Given the description of an element on the screen output the (x, y) to click on. 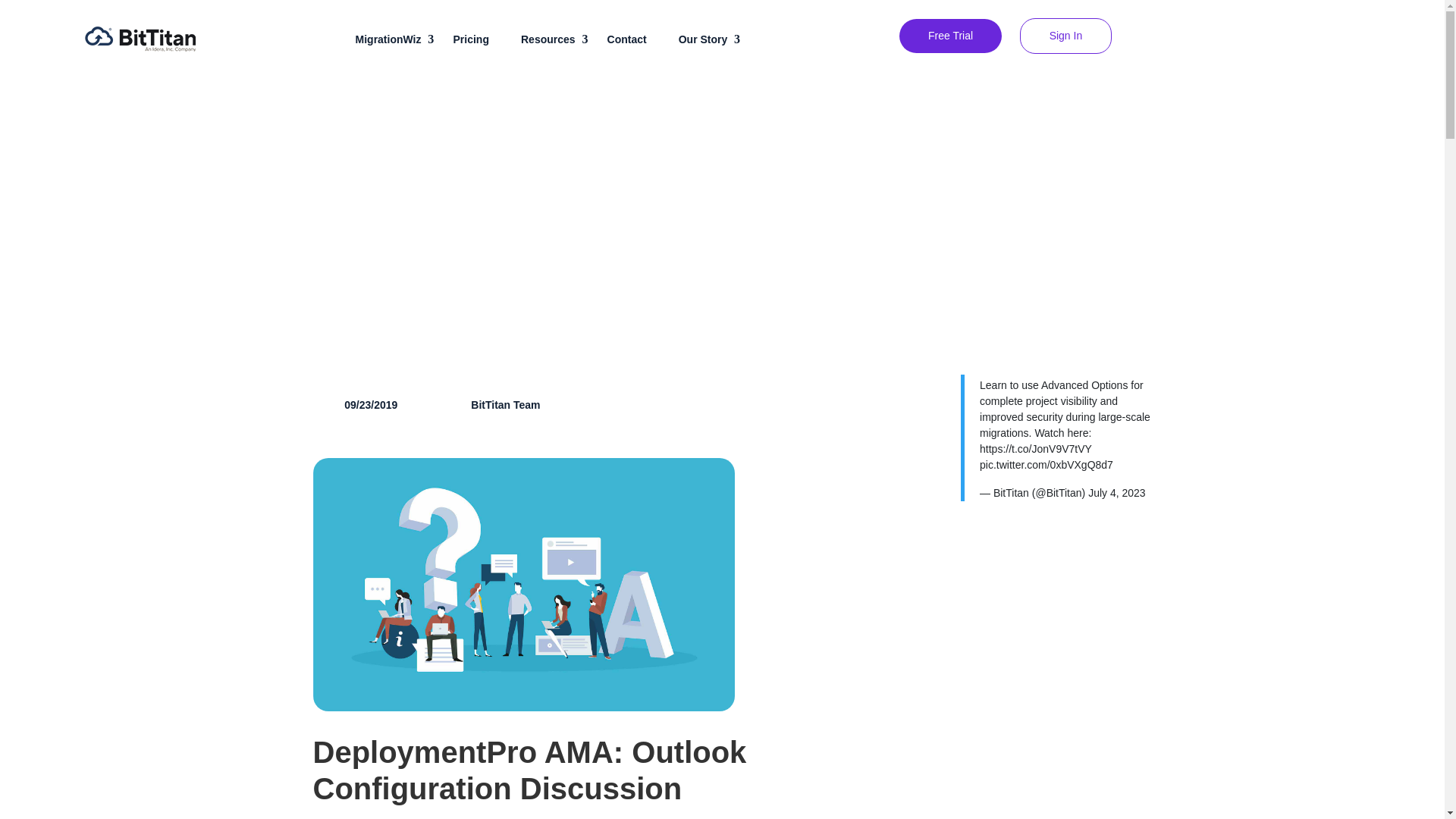
Contact (634, 39)
MigrationWiz (395, 39)
Pricing (477, 39)
Our Story (710, 39)
Free Trial (950, 35)
Resources (556, 39)
